Given the description of an element on the screen output the (x, y) to click on. 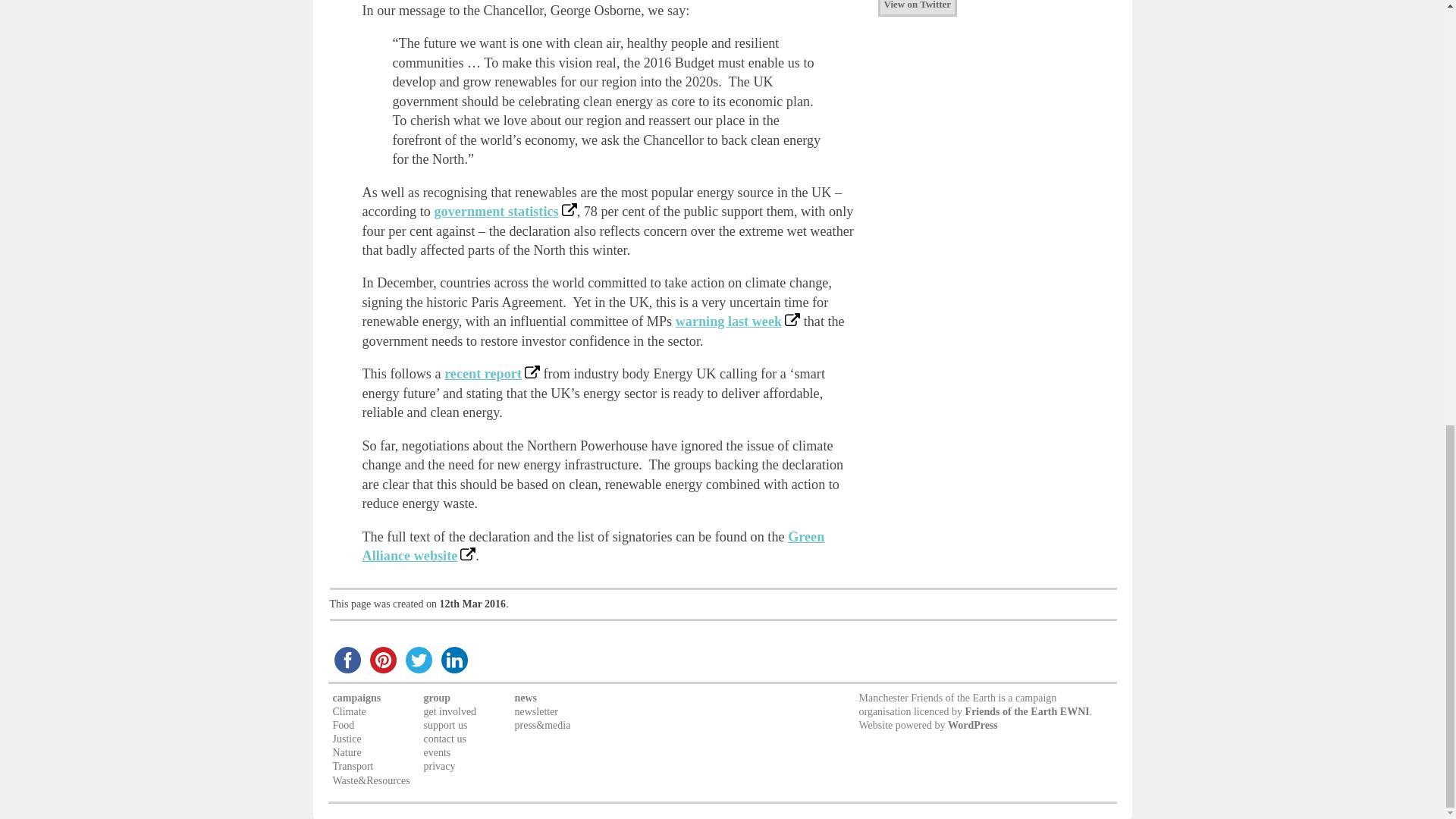
linkedin (453, 660)
pinterest (383, 660)
twitter (417, 660)
facebook (347, 660)
